Given the description of an element on the screen output the (x, y) to click on. 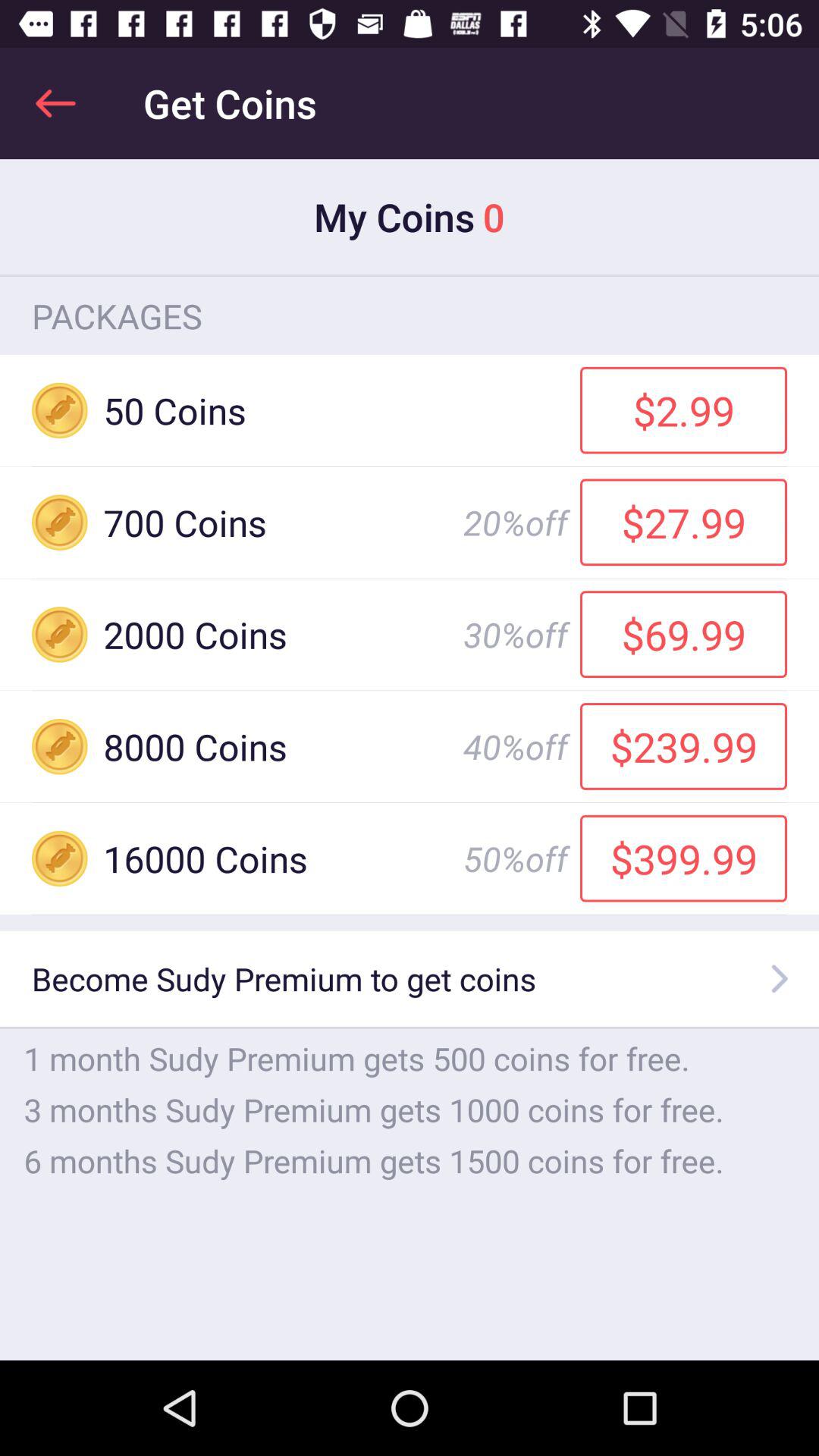
go back (55, 103)
